Given the description of an element on the screen output the (x, y) to click on. 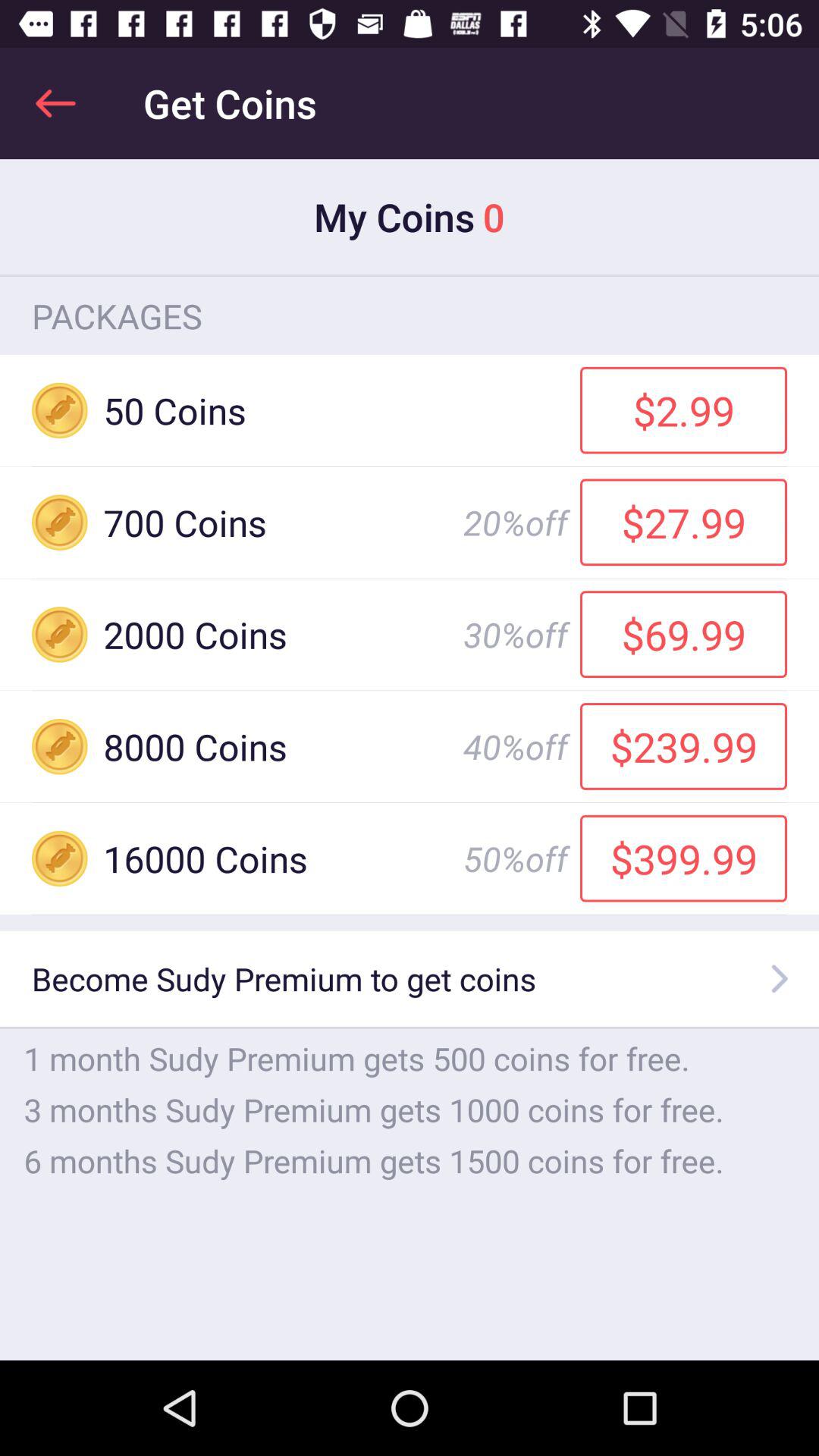
go back (55, 103)
